Given the description of an element on the screen output the (x, y) to click on. 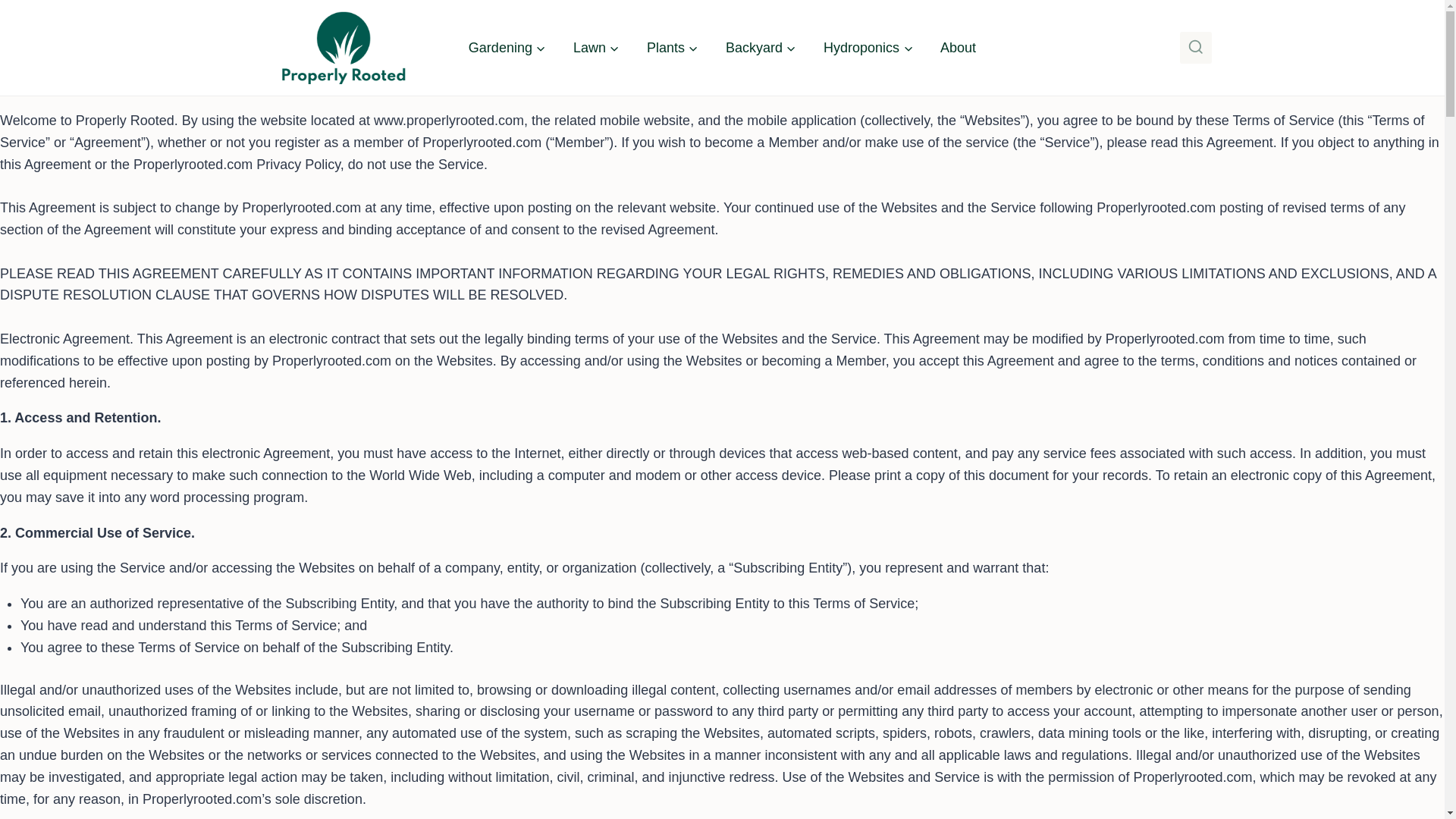
Backyard (760, 47)
About (958, 47)
Plants (672, 47)
Gardening (506, 47)
Lawn (596, 47)
Hydroponics (867, 47)
